Given the description of an element on the screen output the (x, y) to click on. 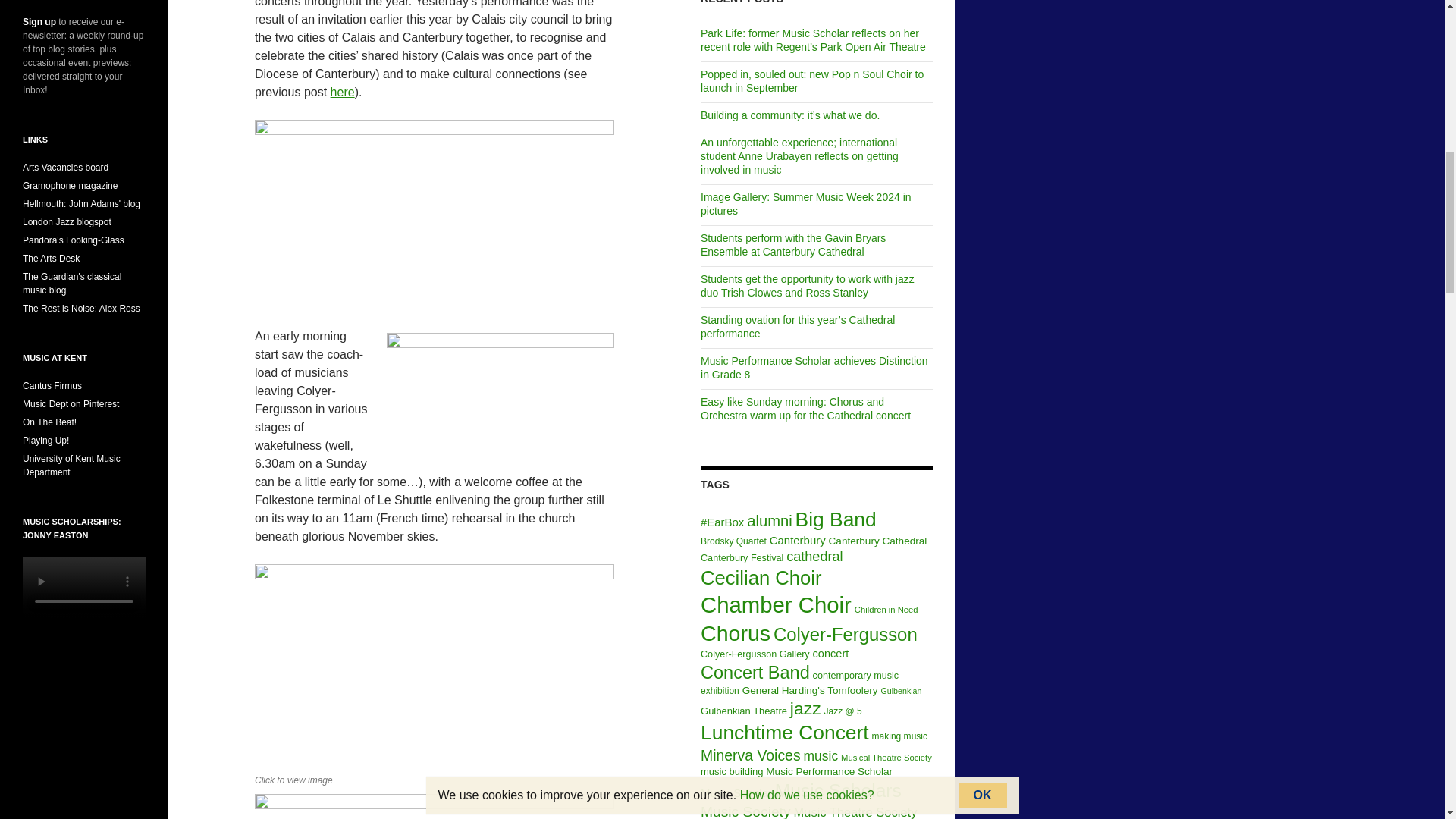
Current arts vacancies on our Pinterest board (65, 167)
The blog of composer, John Adams. (81, 204)
here (342, 91)
Classical music magazine (70, 185)
